Given the description of an element on the screen output the (x, y) to click on. 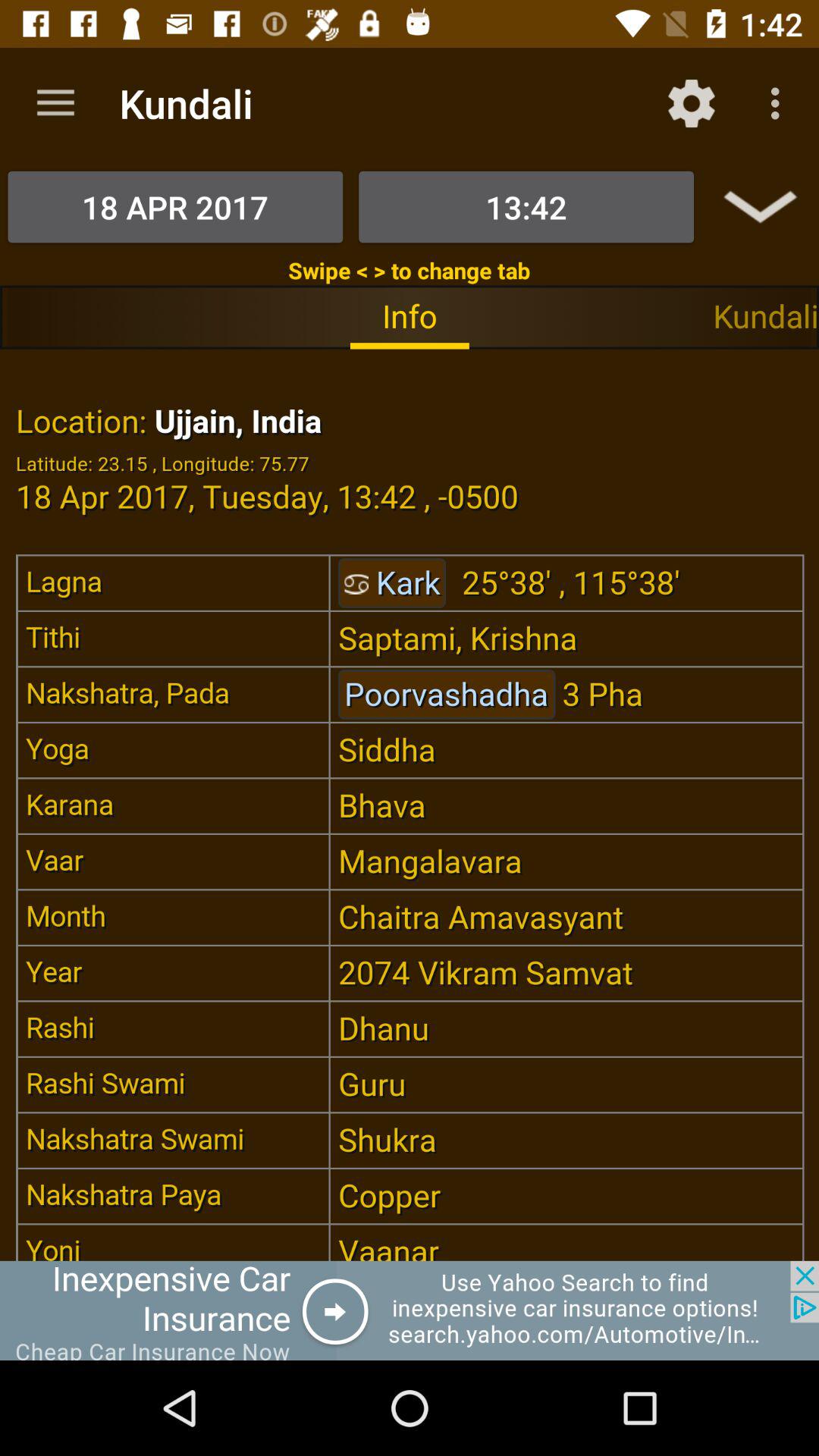
pop-up advertisement (409, 1310)
